Given the description of an element on the screen output the (x, y) to click on. 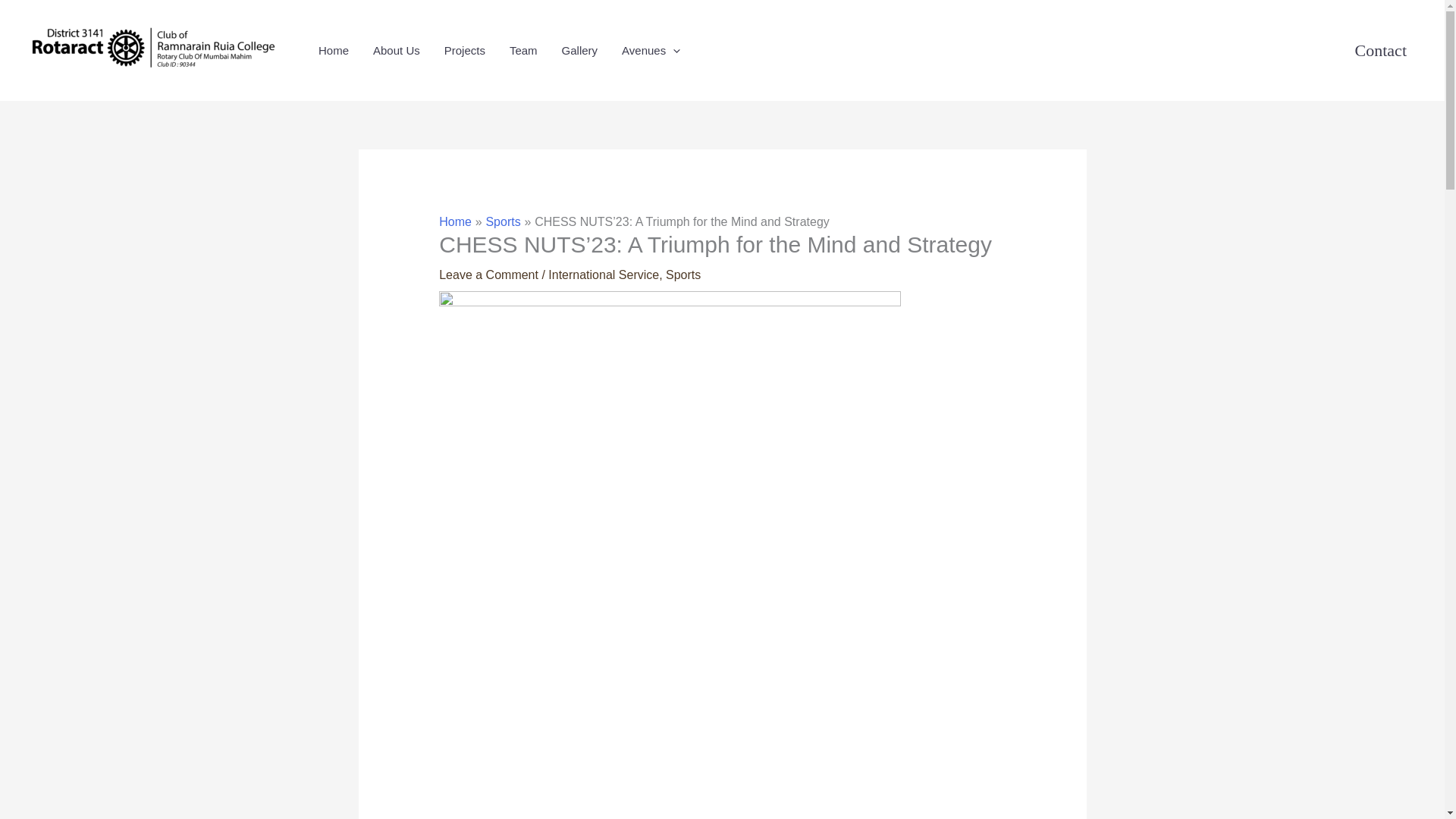
Home (333, 50)
Gallery (580, 50)
Contact (1380, 49)
Team (523, 50)
About Us (396, 50)
Projects (464, 50)
Avenues (651, 50)
